Given the description of an element on the screen output the (x, y) to click on. 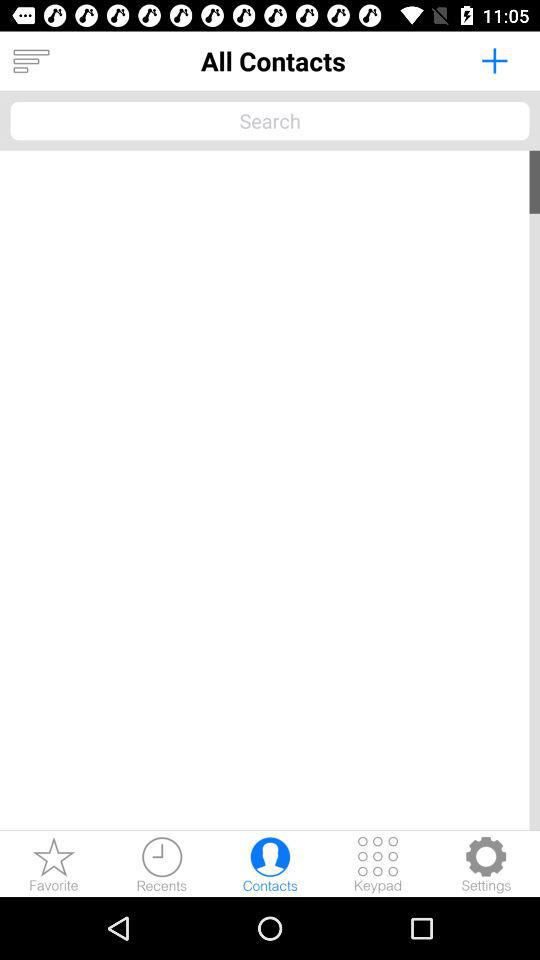
keypad (377, 864)
